Given the description of an element on the screen output the (x, y) to click on. 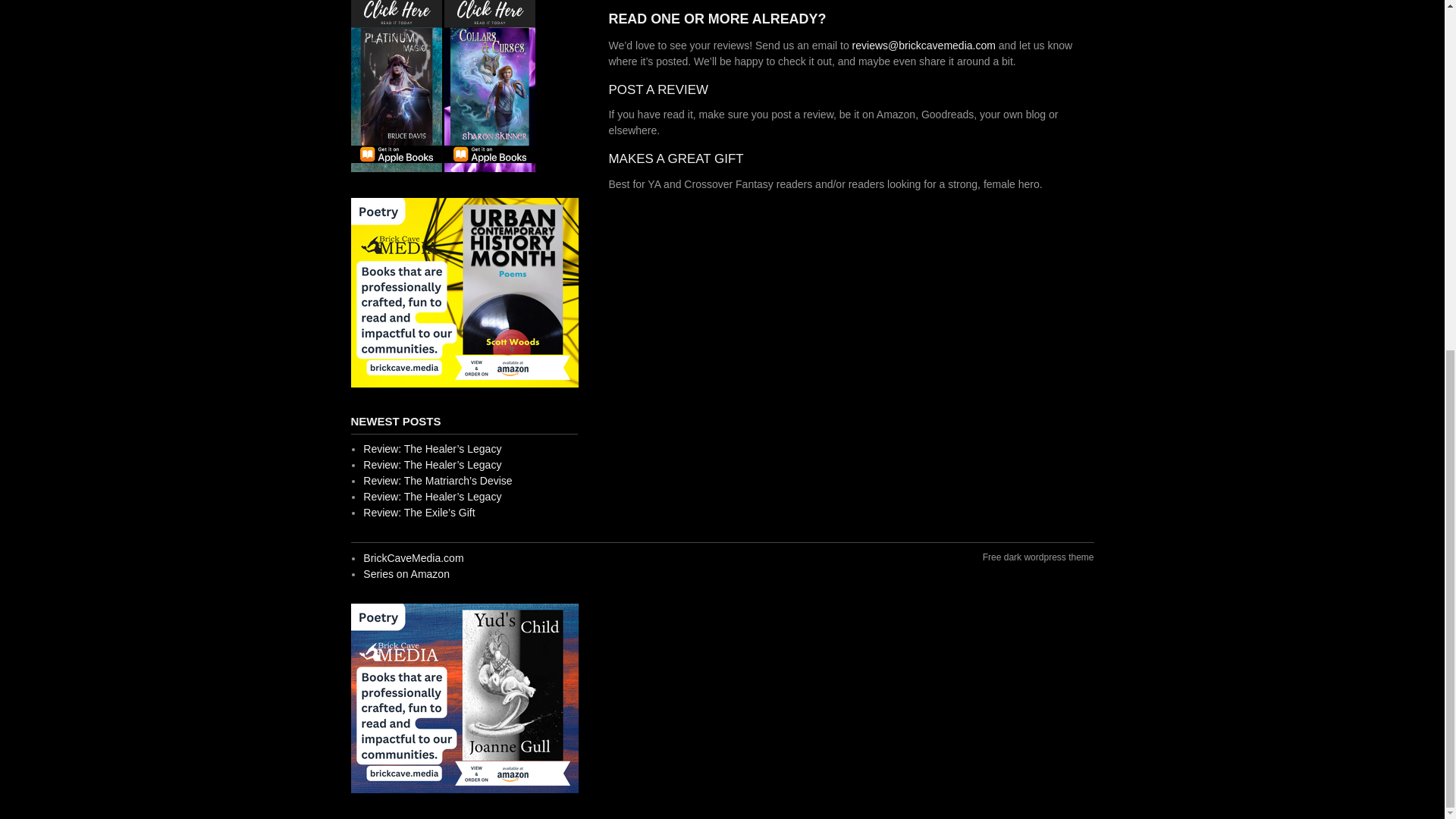
BrickCaveMedia.com (412, 558)
